Given the description of an element on the screen output the (x, y) to click on. 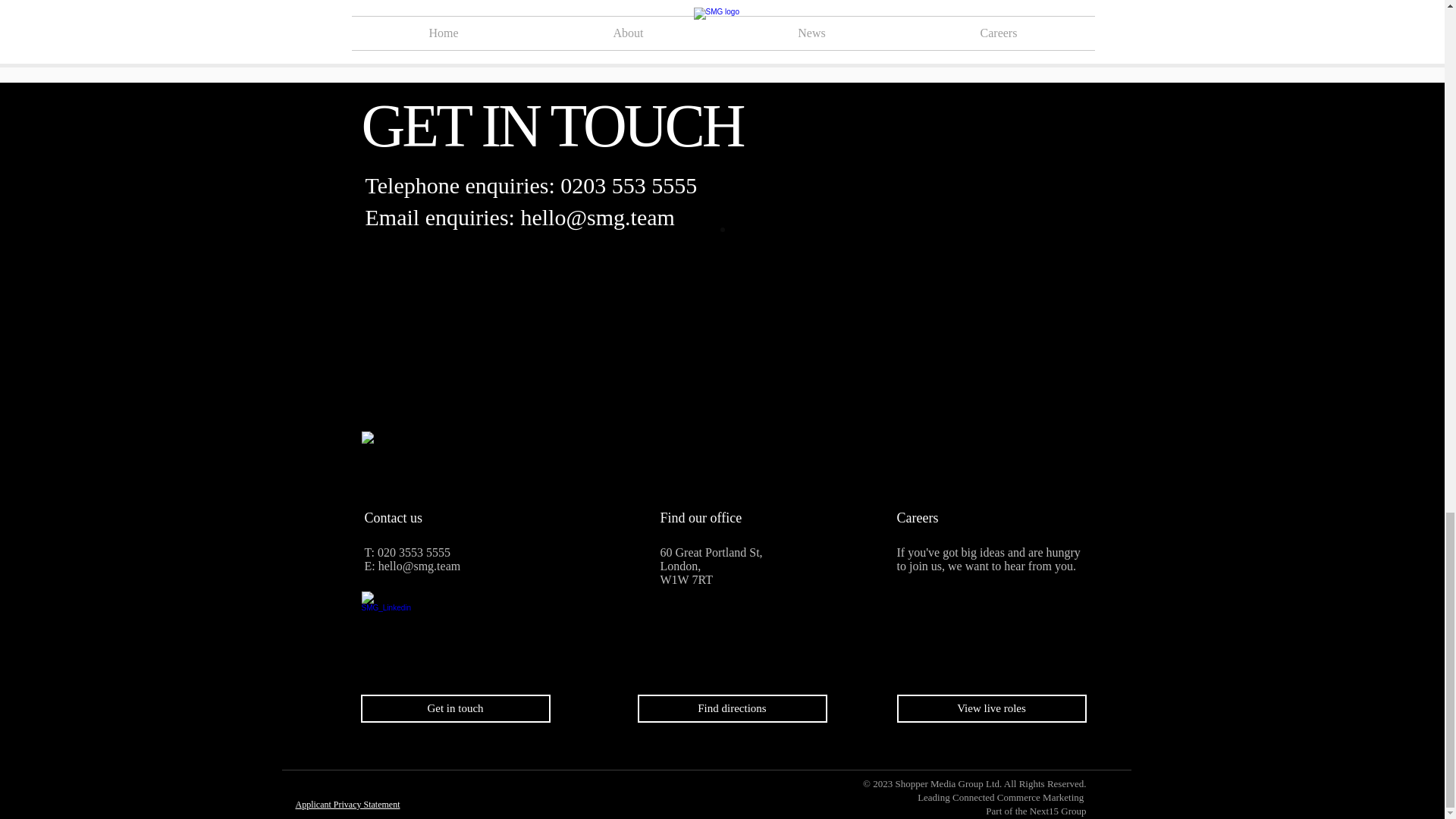
Part of the Next15 Group (1035, 810)
Find directions (732, 708)
Get in touch (455, 708)
Applicant Privacy Statement (347, 804)
View live roles (991, 708)
